Given the description of an element on the screen output the (x, y) to click on. 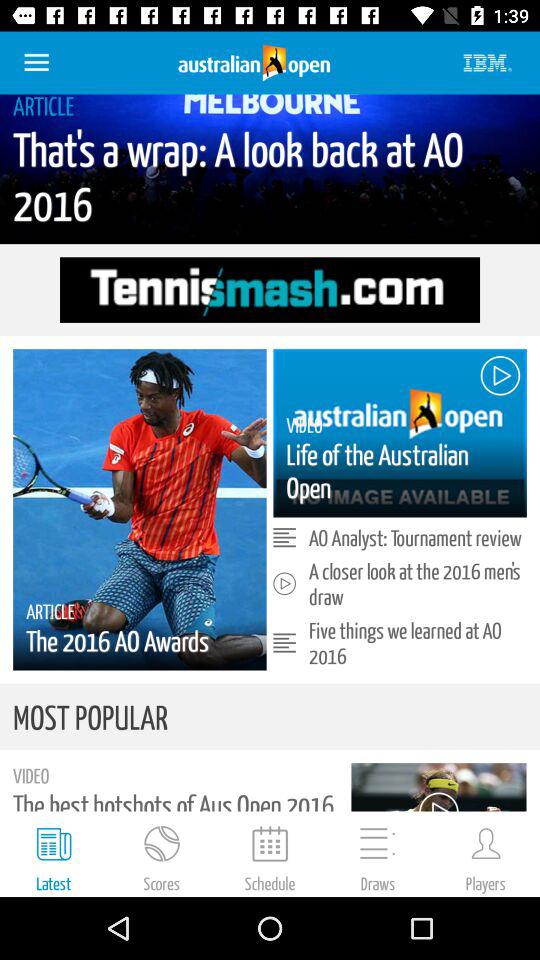
click on the text at top right corner (487, 63)
